Given the description of an element on the screen output the (x, y) to click on. 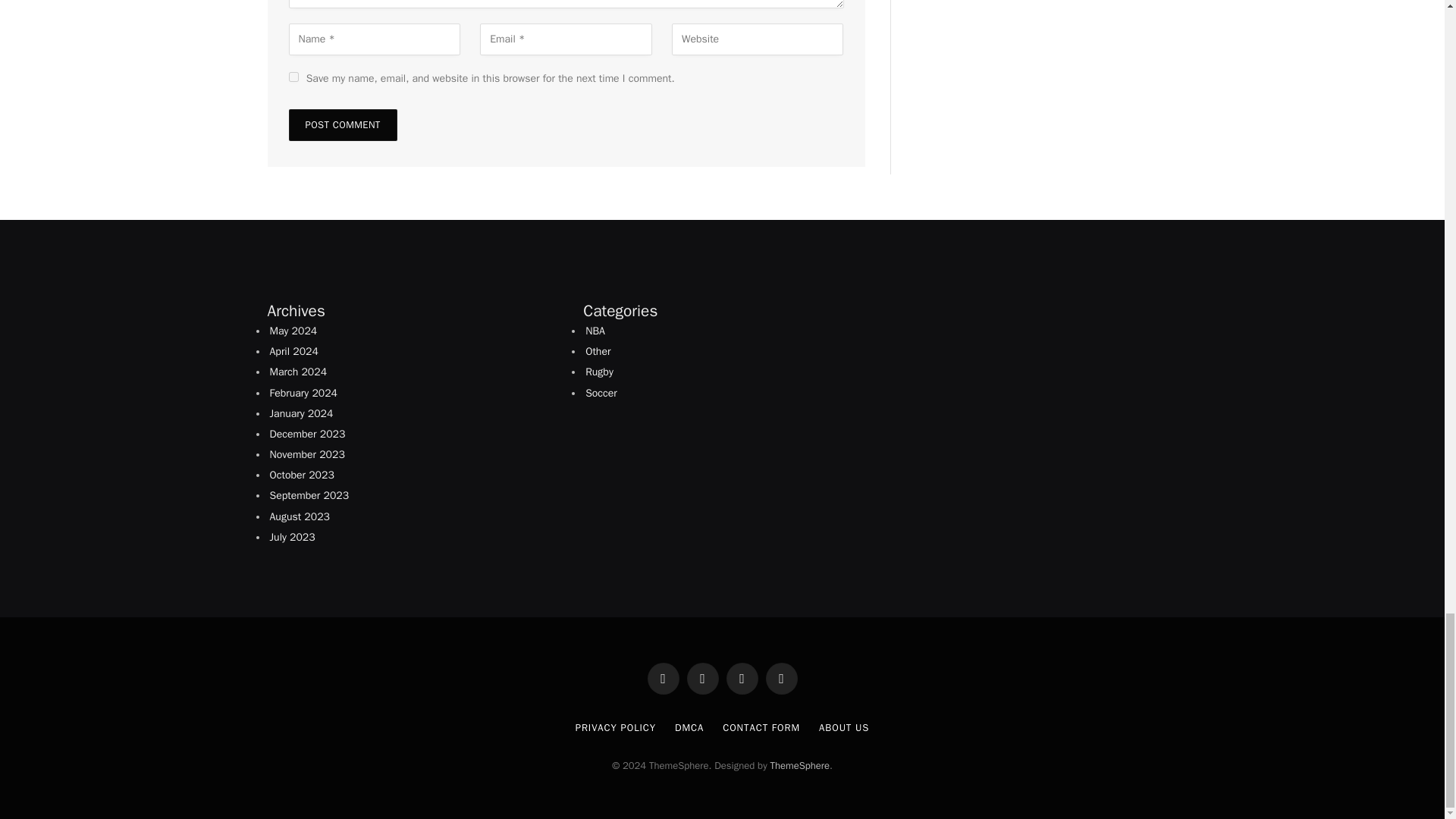
yes (293, 76)
Post Comment (342, 124)
